Given the description of an element on the screen output the (x, y) to click on. 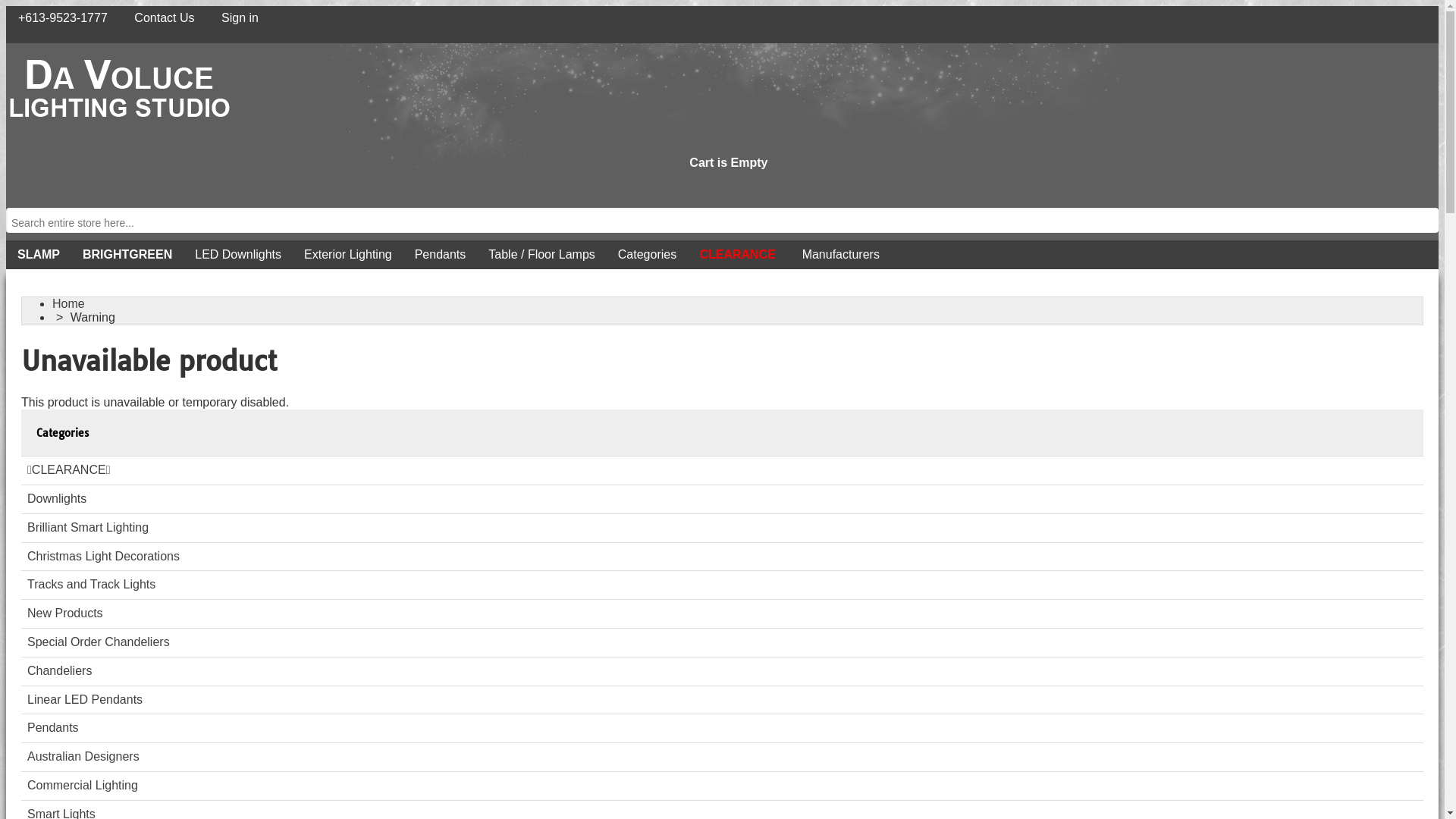
Australian Designers Element type: text (722, 756)
Exterior Lighting Element type: text (347, 254)
Home  Element type: text (69, 303)
  Contact Us Element type: text (160, 17)
Table / Floor Lamps Element type: text (541, 254)
BRIGHTGREEN Element type: text (127, 254)
Manufacturers Element type: text (839, 254)
Pendants Element type: text (722, 727)
LED Downlights Element type: text (237, 254)
Chandeliers Element type: text (722, 670)
CLEARANCE Element type: text (736, 254)
Christmas Light Decorations Element type: text (722, 556)
New Products Element type: text (722, 613)
Pendants Element type: text (440, 254)
SLAMP Element type: text (38, 254)
Downlights Element type: text (722, 498)
Linear LED Pendants Element type: text (722, 699)
Categories Element type: text (646, 254)
Special Order Chandeliers Element type: text (722, 641)
  Sign in Element type: text (236, 17)
Tracks and Track Lights Element type: text (722, 584)
Commercial Lighting Element type: text (722, 785)
Brilliant Smart Lighting Element type: text (722, 527)
